Given the description of an element on the screen output the (x, y) to click on. 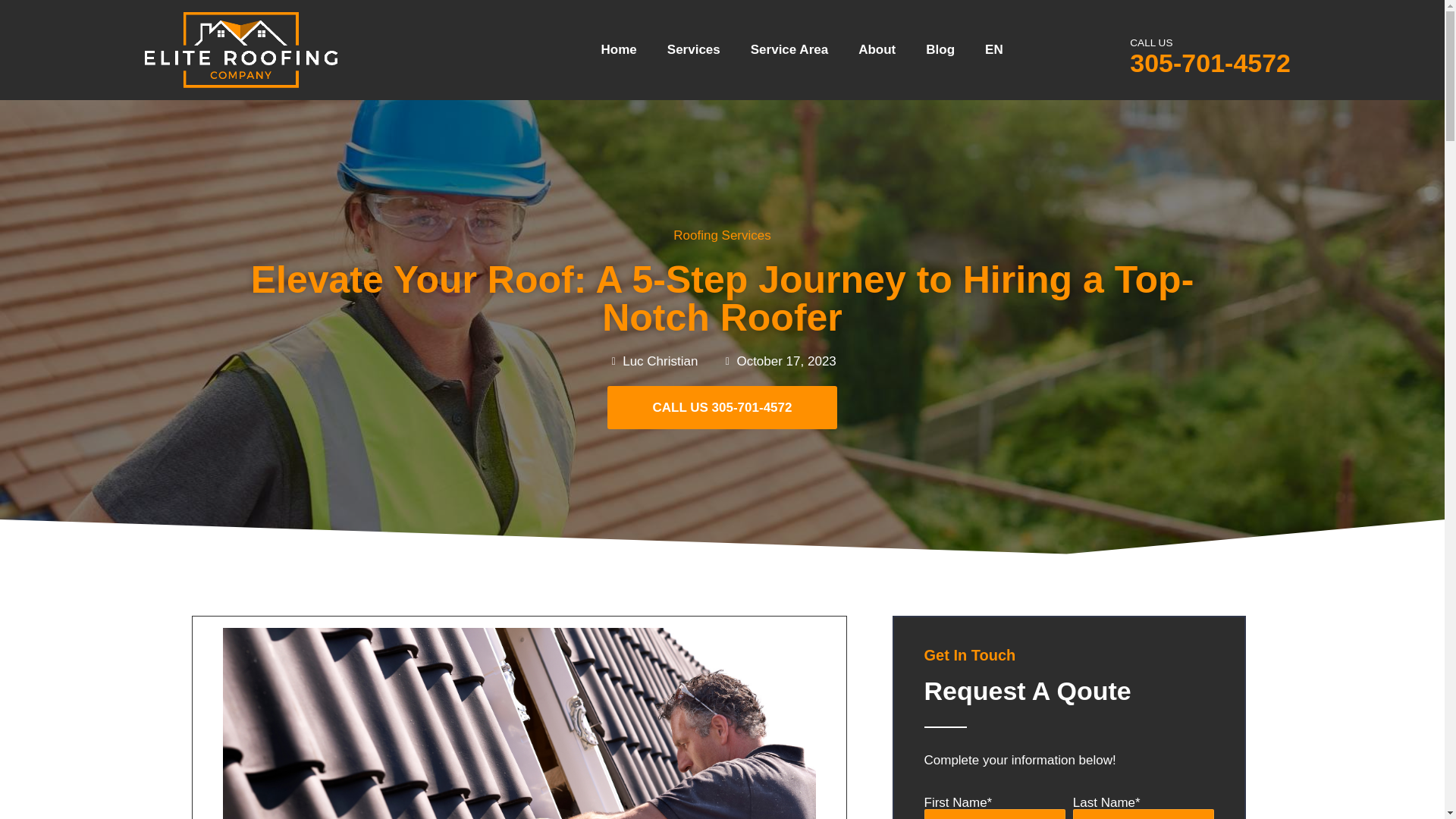
English (993, 49)
EN (993, 49)
Blog (940, 49)
Service Area (789, 49)
About (877, 49)
Home (619, 49)
Services (693, 49)
